Given the description of an element on the screen output the (x, y) to click on. 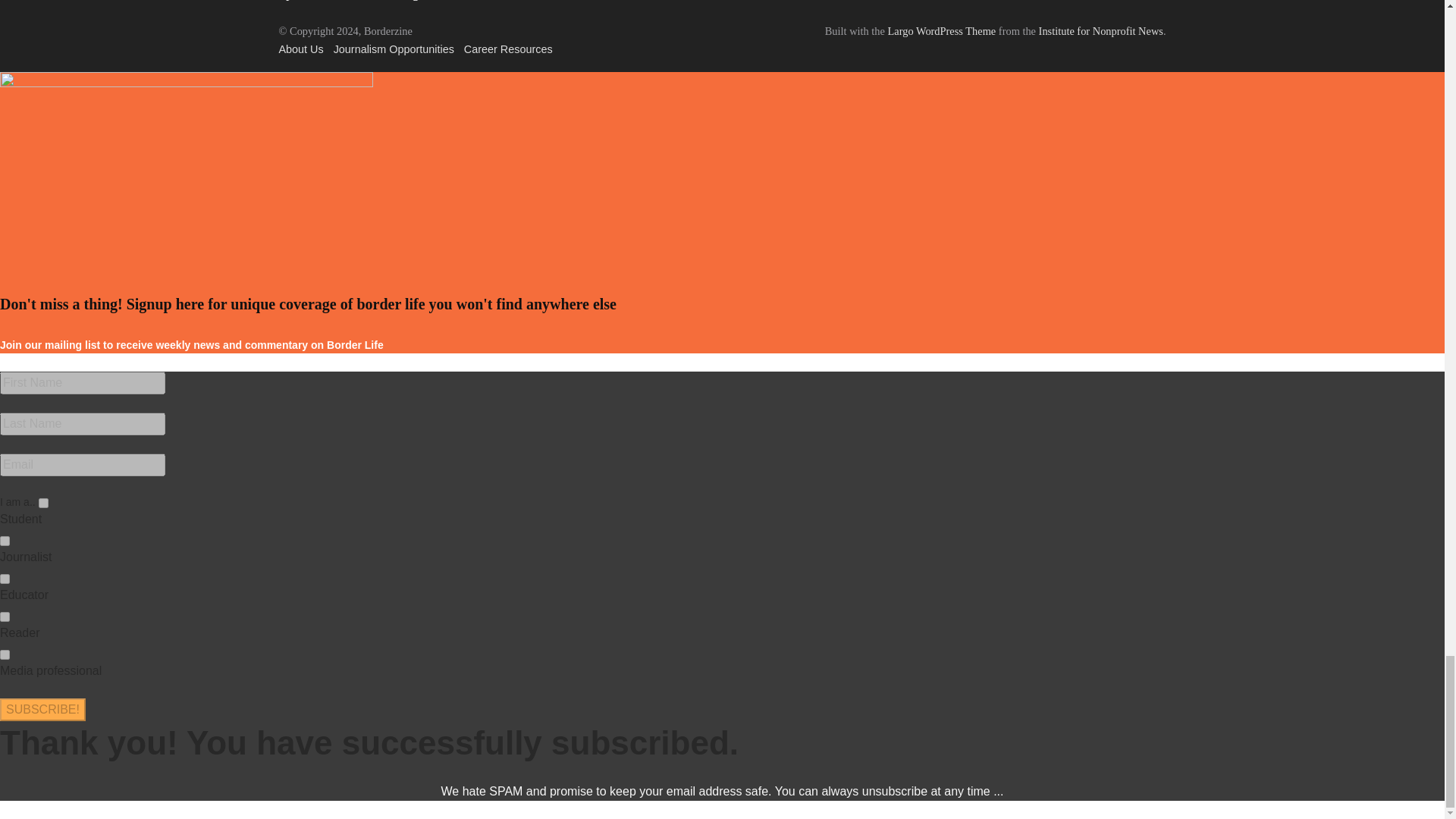
Reader (5, 616)
Student (43, 502)
Media professional (5, 655)
Journalist (5, 541)
Educator (5, 578)
